Given the description of an element on the screen output the (x, y) to click on. 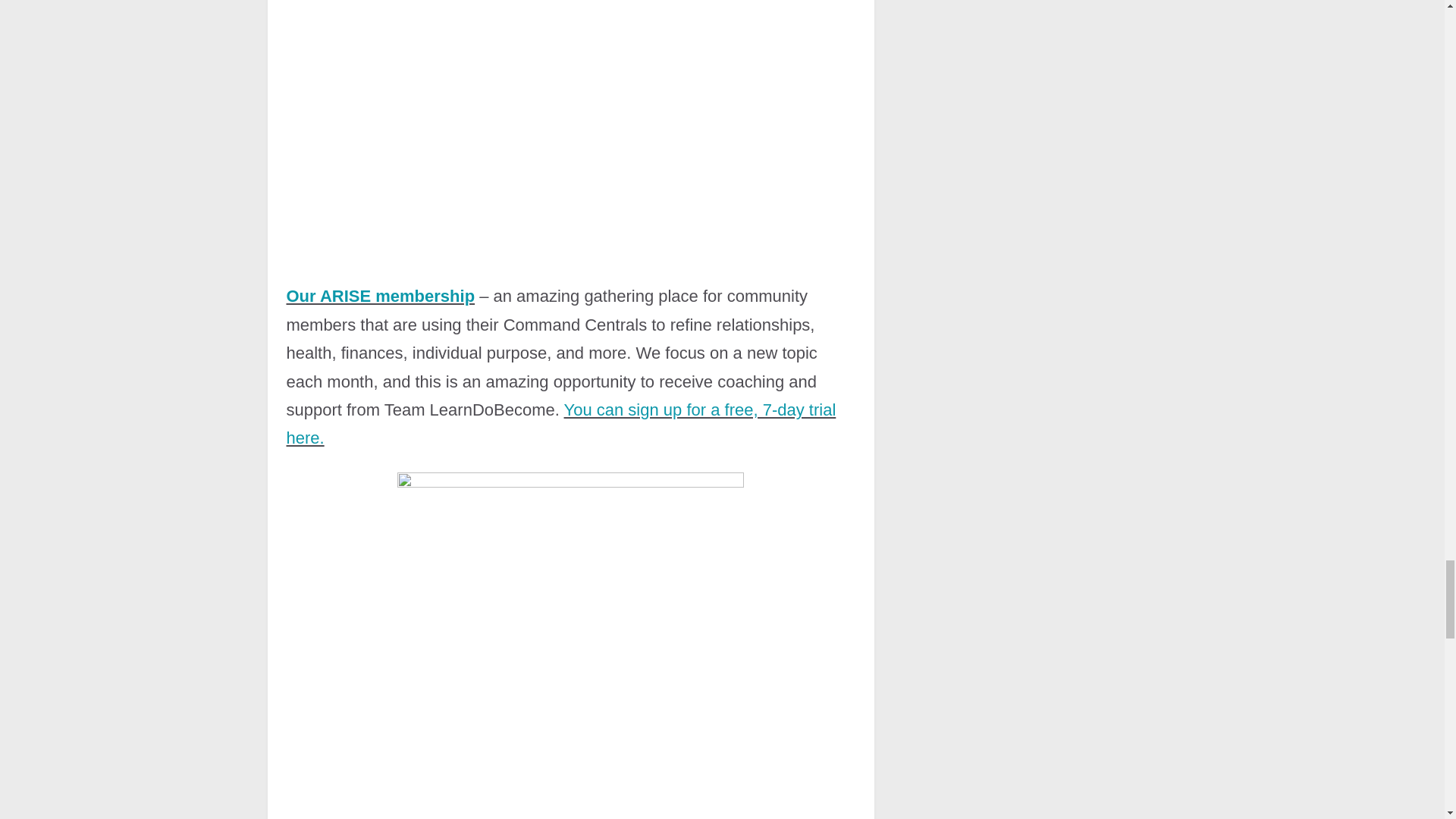
You can sign up for a free, 7-day trial here. (560, 423)
Our ARISE membership (381, 295)
